Given the description of an element on the screen output the (x, y) to click on. 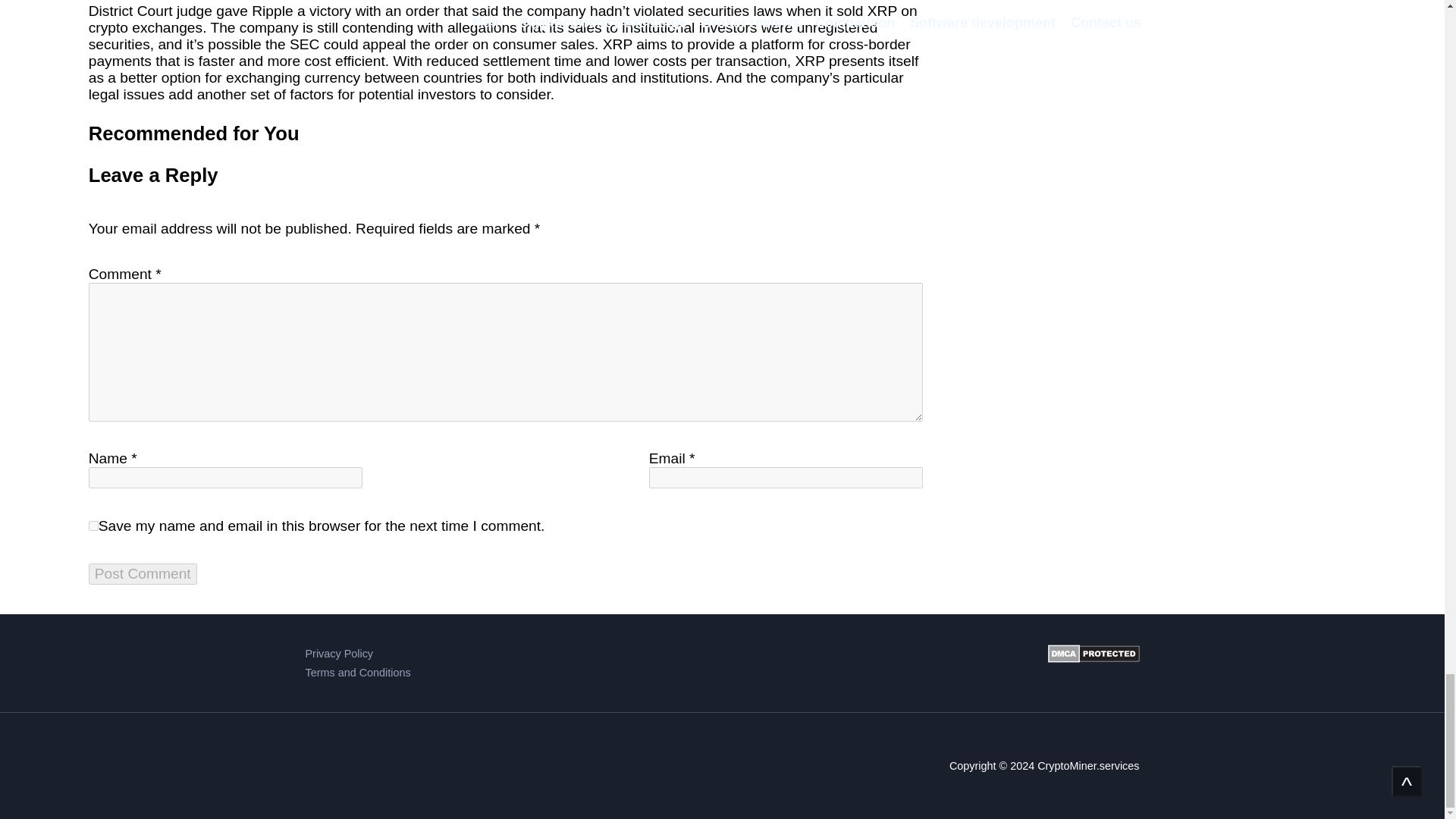
DMCA.com Protection Status (1094, 662)
yes (93, 525)
Post Comment (142, 573)
